Given the description of an element on the screen output the (x, y) to click on. 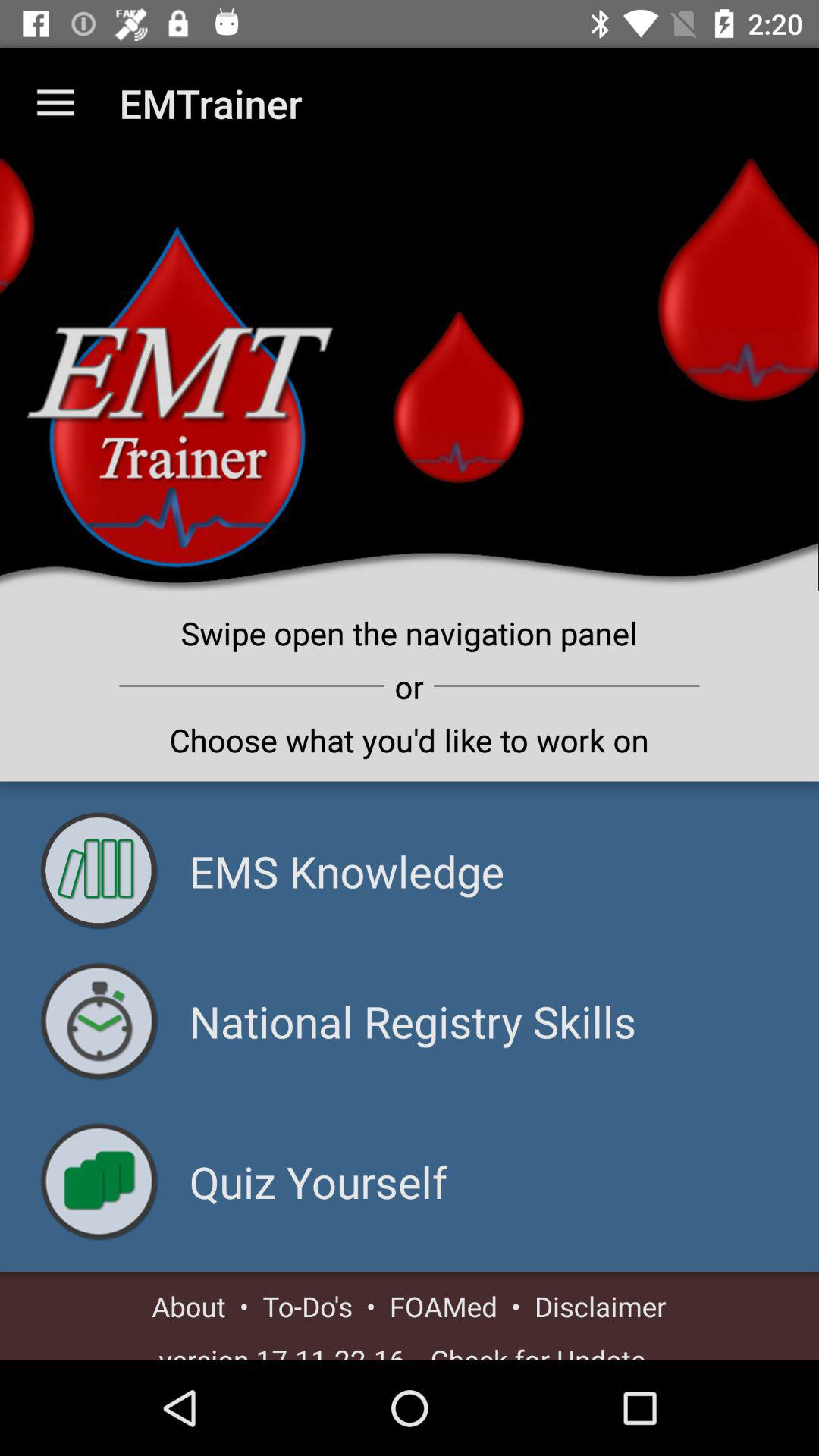
tap the - check for update - icon (537, 1350)
